Given the description of an element on the screen output the (x, y) to click on. 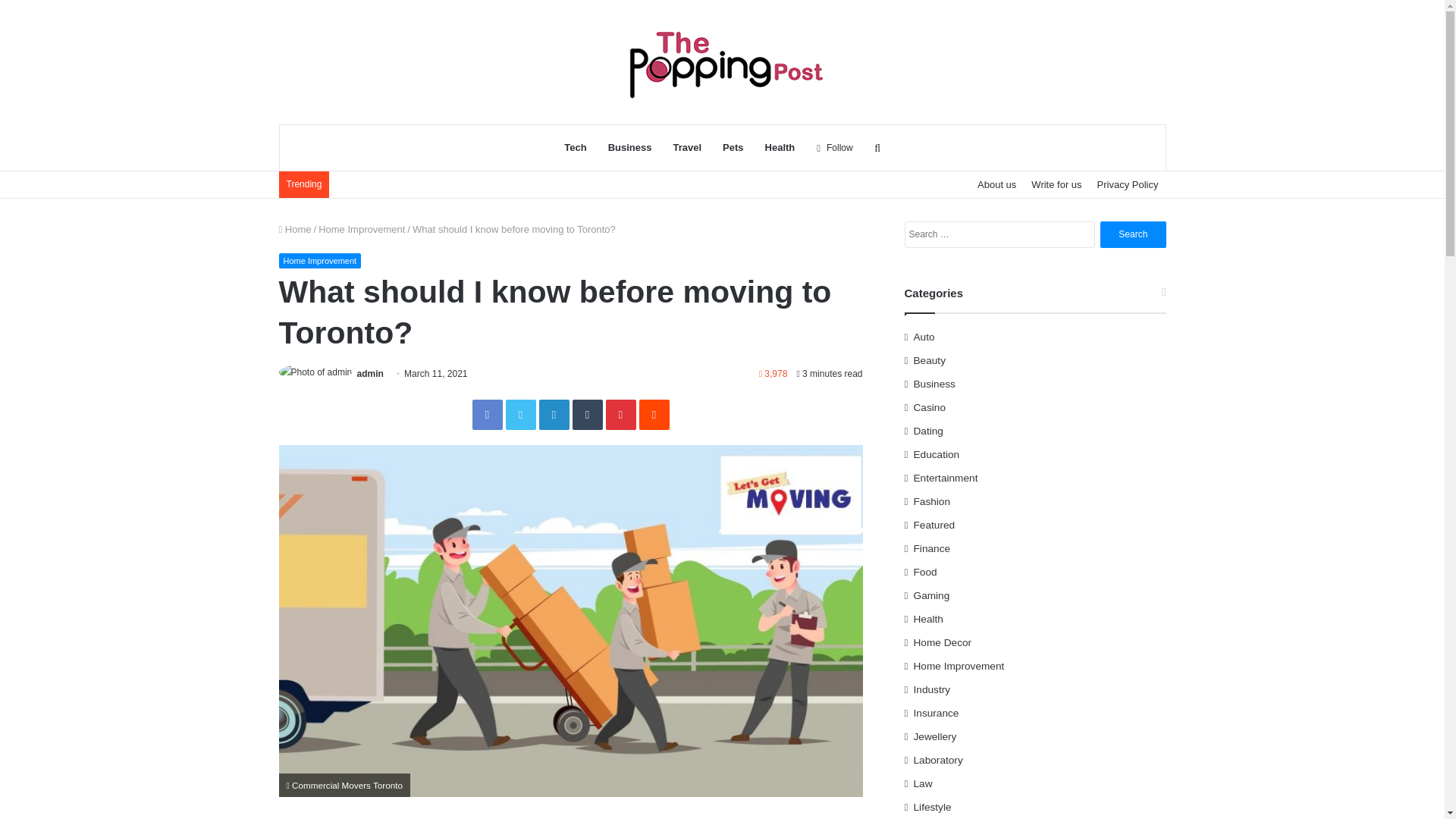
Health (780, 147)
Facebook (486, 414)
Privacy Policy (1127, 184)
Tumblr (587, 414)
admin (370, 373)
Search (1133, 234)
Follow (834, 147)
Home (295, 229)
the popping post (721, 61)
admin (370, 373)
